Given the description of an element on the screen output the (x, y) to click on. 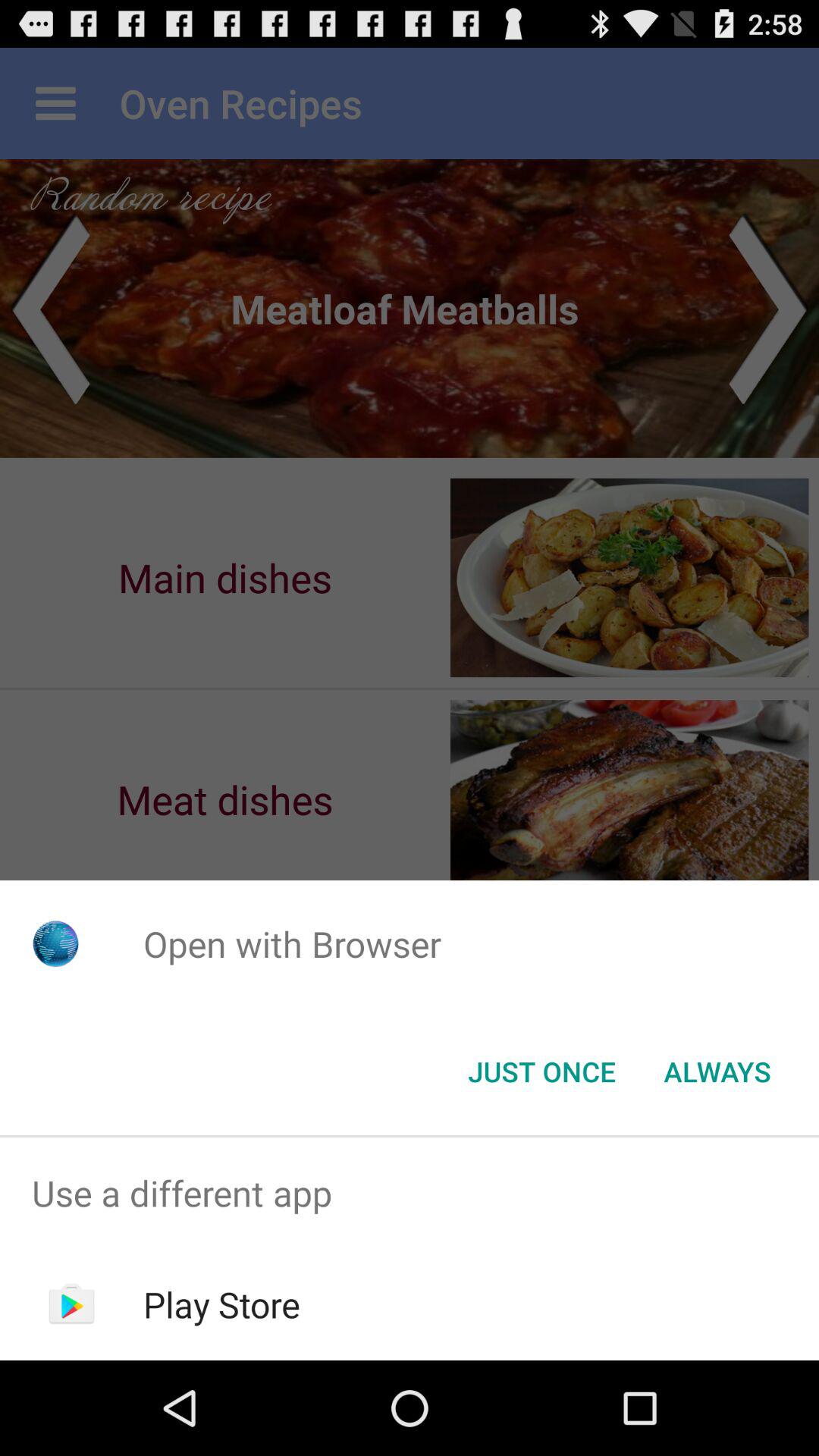
click the button at the bottom right corner (717, 1071)
